Given the description of an element on the screen output the (x, y) to click on. 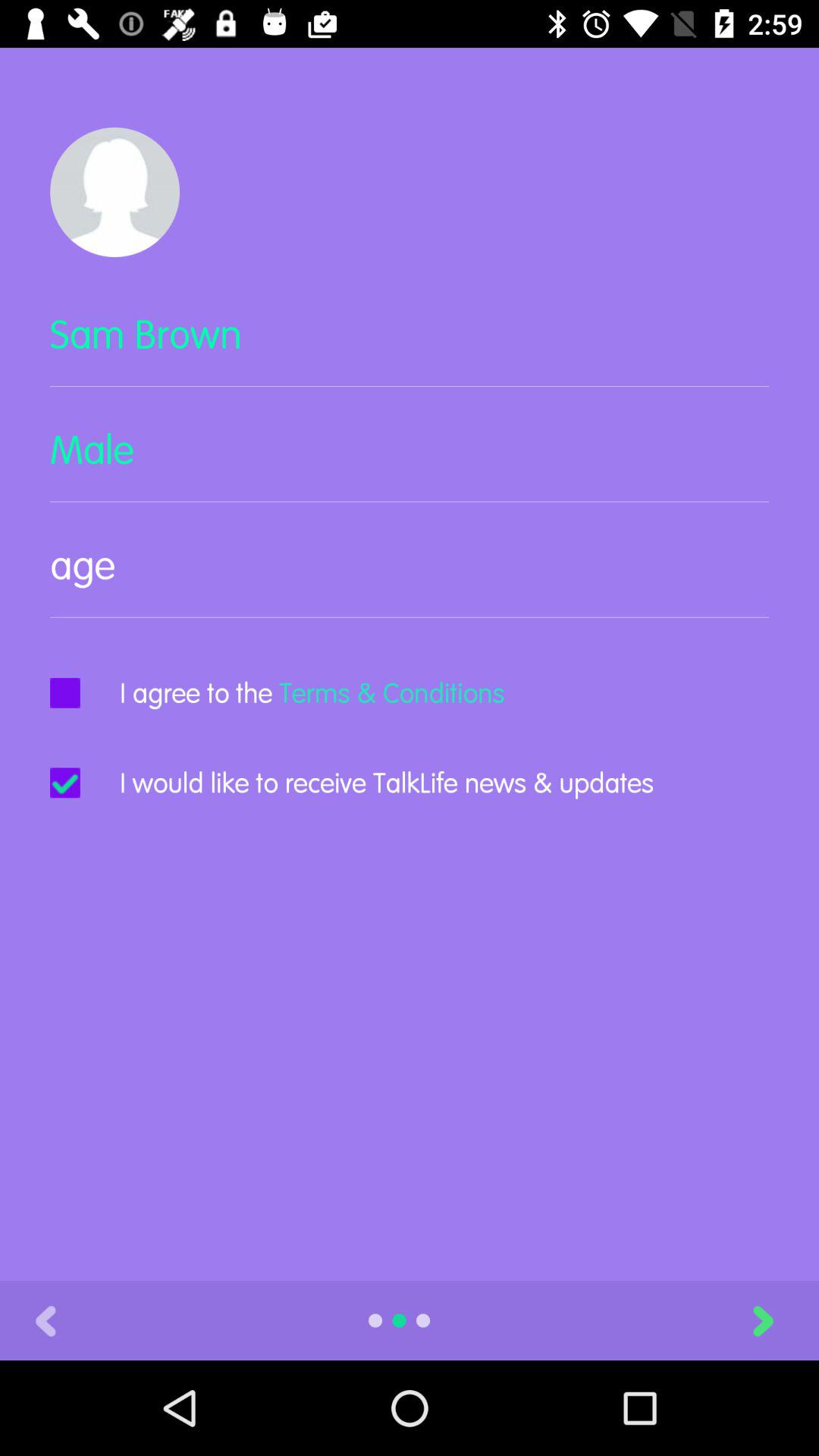
choose item at the bottom right corner (780, 1320)
